Given the description of an element on the screen output the (x, y) to click on. 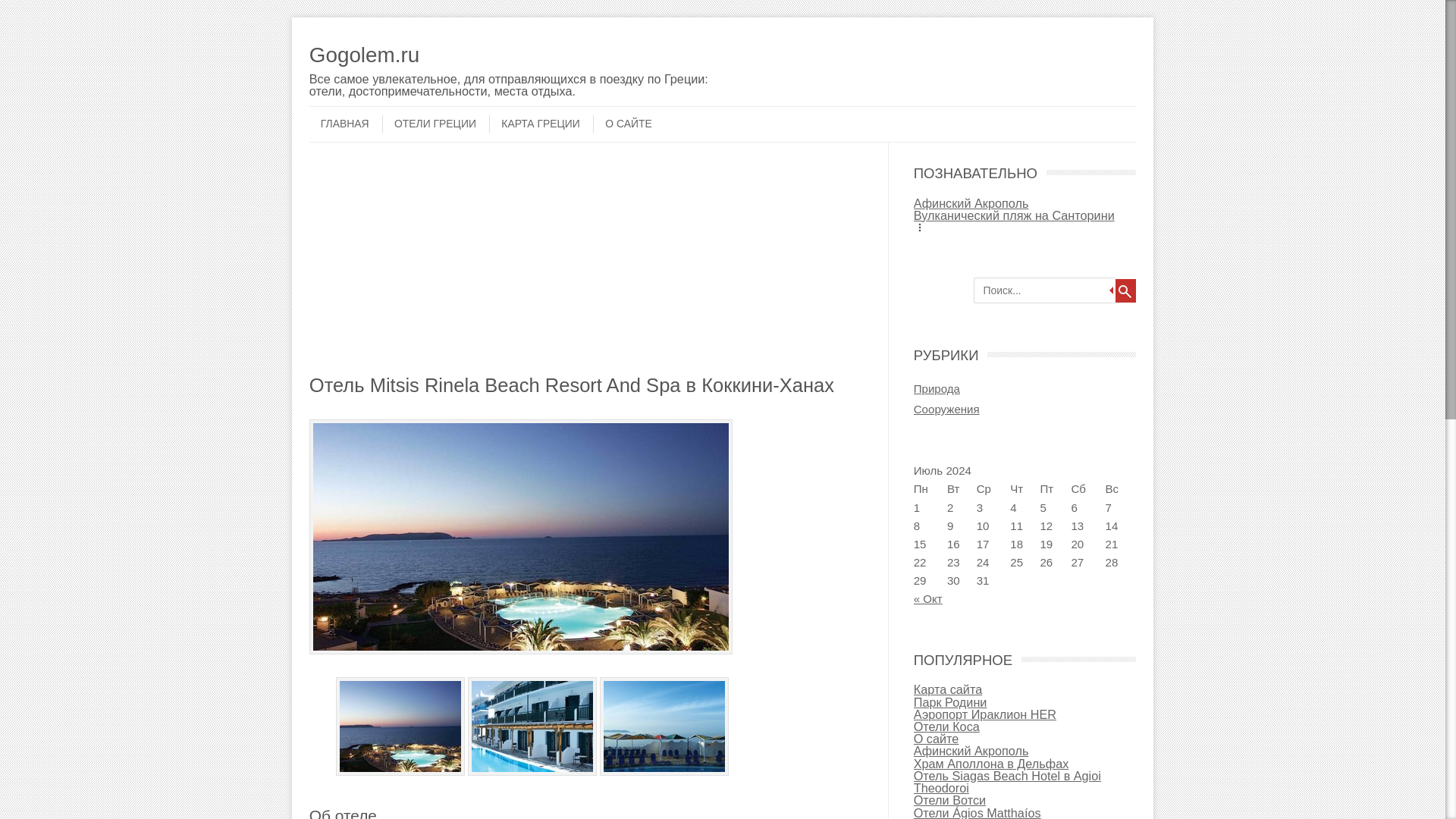
Gogolem.ru (511, 55)
Advertisement (589, 266)
